Given the description of an element on the screen output the (x, y) to click on. 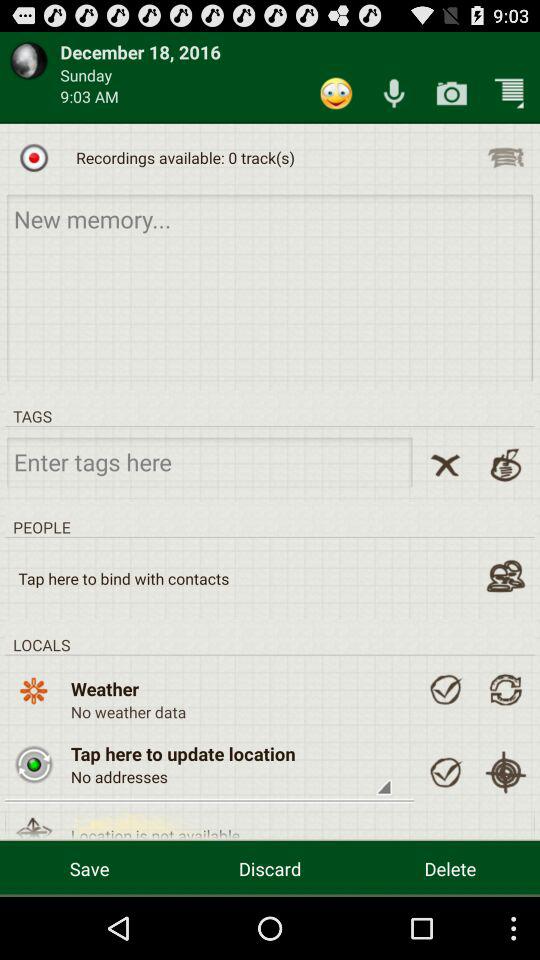
click to close (445, 464)
